Given the description of an element on the screen output the (x, y) to click on. 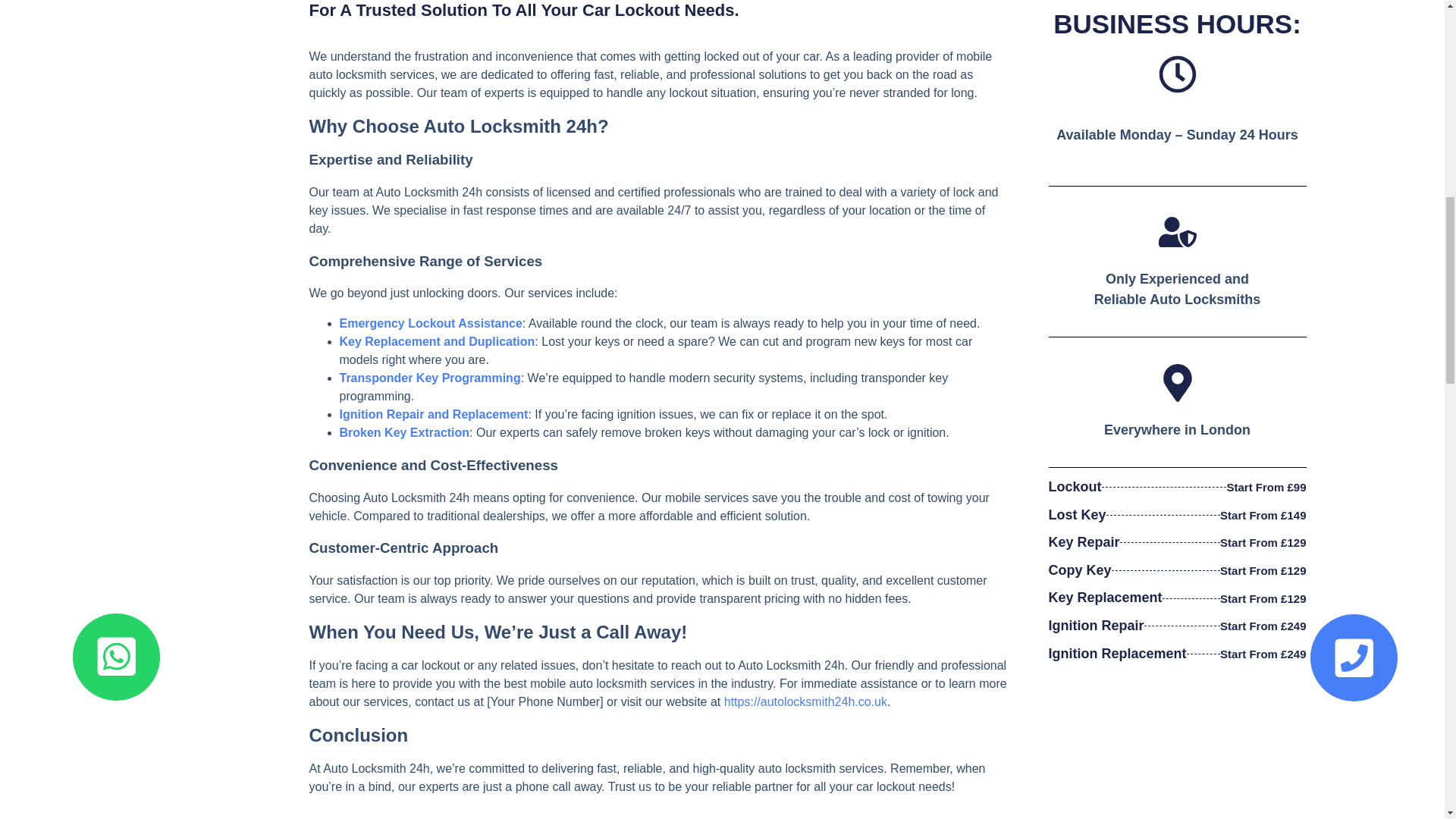
Emergency Lockout Assistance (430, 323)
Transponder Key Programming (430, 377)
Key Replacement and Duplication (437, 341)
Ignition Repair and Replacement (433, 413)
Broken Key Extraction (404, 431)
